Given the description of an element on the screen output the (x, y) to click on. 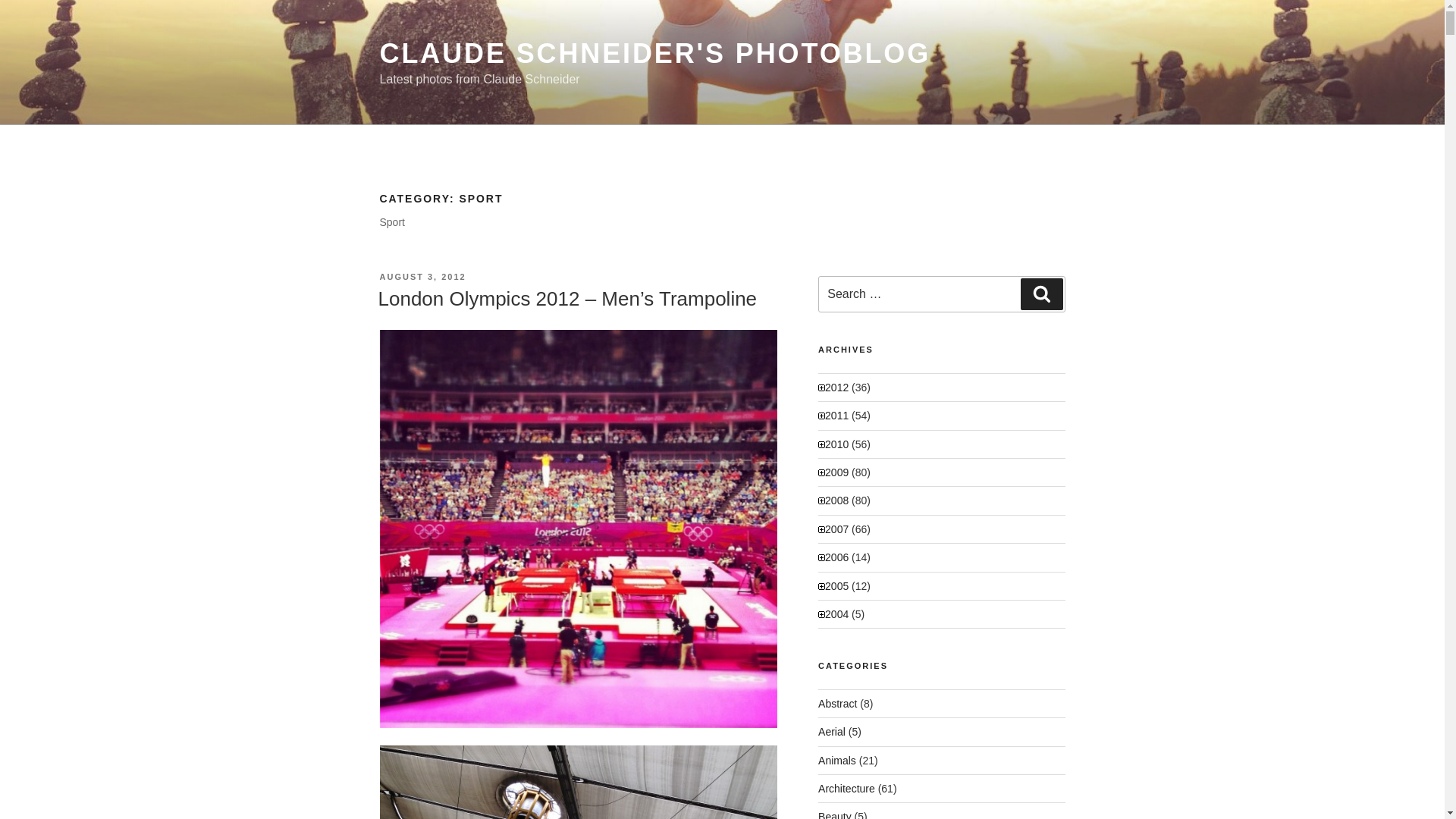
CLAUDE SCHNEIDER'S PHOTOBLOG (654, 52)
AUGUST 3, 2012 (421, 276)
